Given the description of an element on the screen output the (x, y) to click on. 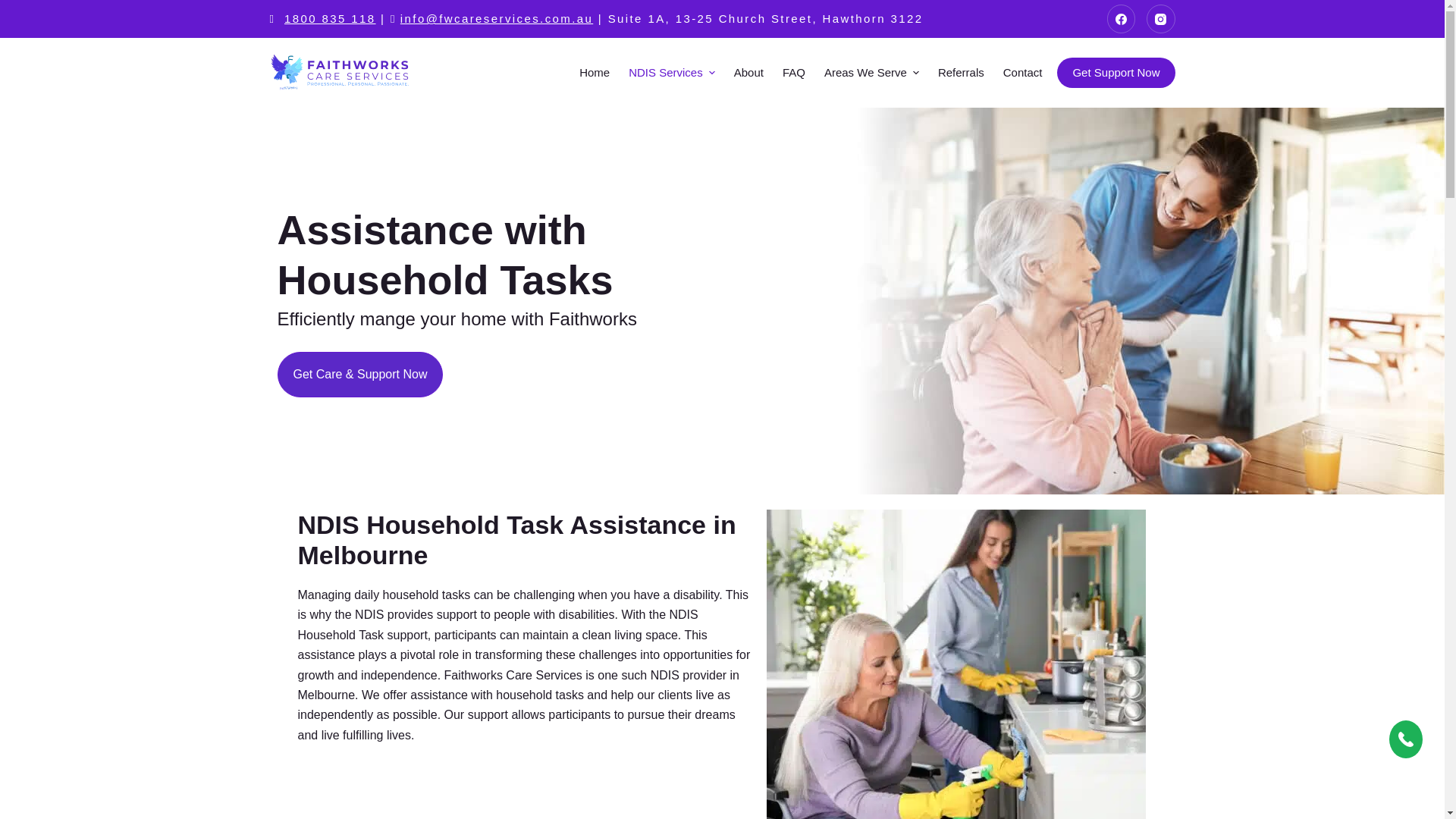
Skip to content (15, 7)
1800 835 118 (329, 18)
NDIS Services (672, 72)
